Given the description of an element on the screen output the (x, y) to click on. 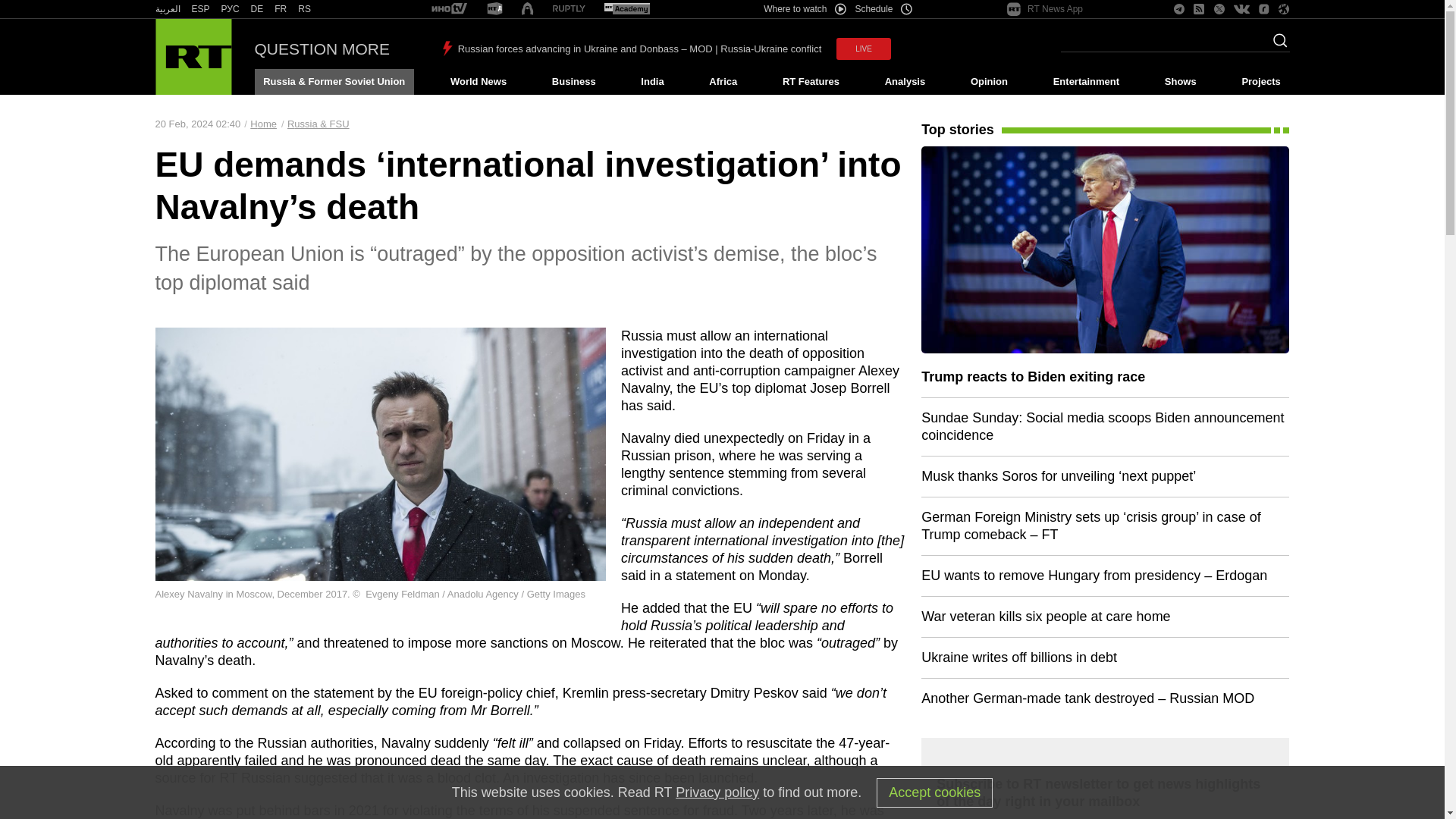
FR (280, 9)
RT  (280, 9)
RT  (199, 9)
RT  (569, 8)
Search (1276, 44)
LIVE (863, 48)
Entertainment (1085, 81)
RT  (626, 9)
RT  (448, 9)
RT Features (810, 81)
Where to watch (803, 9)
RT  (230, 9)
RT News App (1045, 9)
Shows (1180, 81)
Opinion (988, 81)
